Given the description of an element on the screen output the (x, y) to click on. 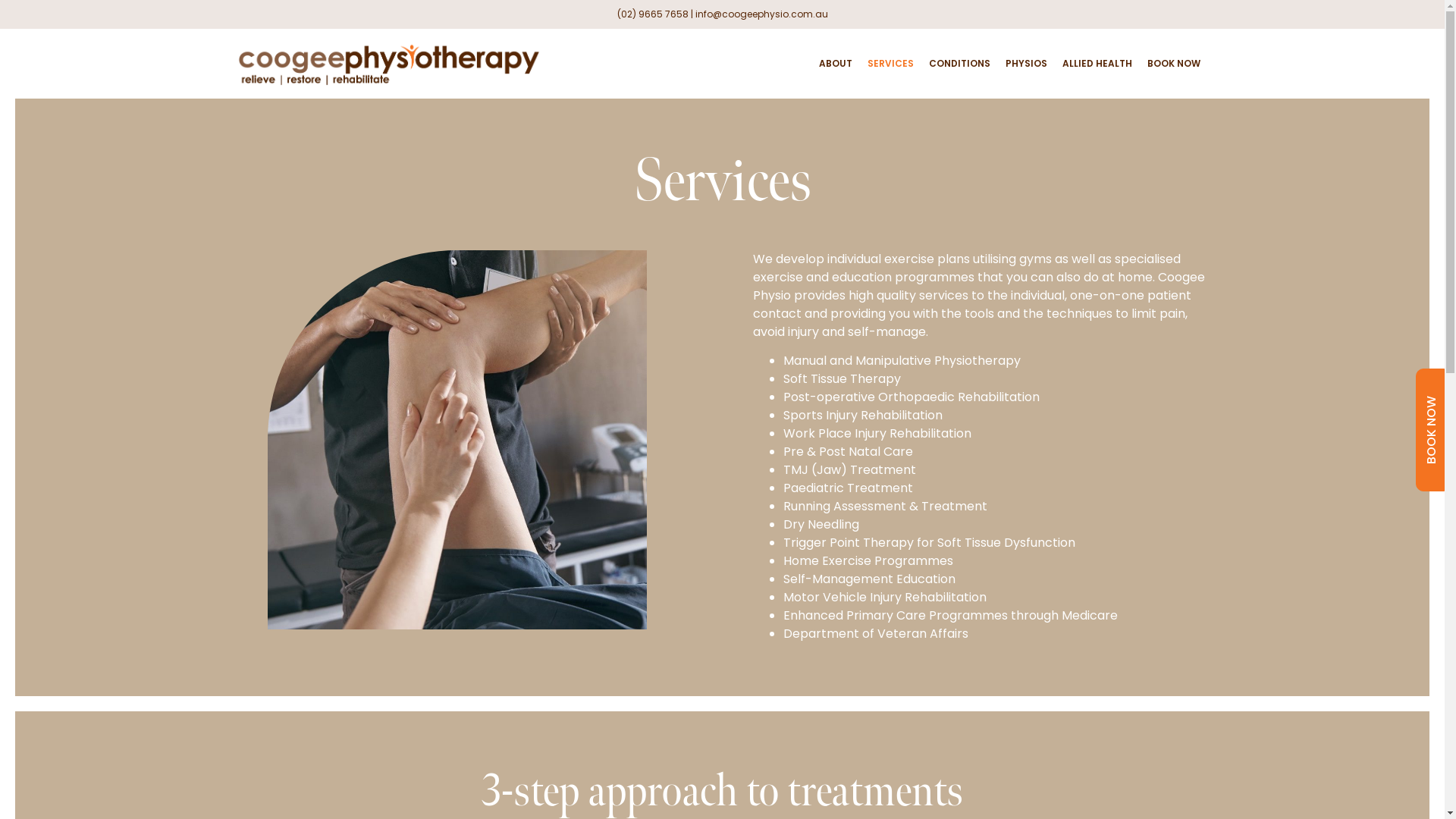
(02) 9665 7658 Element type: text (652, 13)
CONDITIONS Element type: text (958, 63)
ABOUT Element type: text (835, 63)
SERVICES Element type: text (890, 63)
BOOK NOW Element type: text (1431, 429)
BOOK NOW Element type: text (1173, 63)
PHYSIOS Element type: text (1025, 63)
ALLIED HEALTH Element type: text (1096, 63)
info@coogeephysio.com.au Element type: text (760, 13)
